Given the description of an element on the screen output the (x, y) to click on. 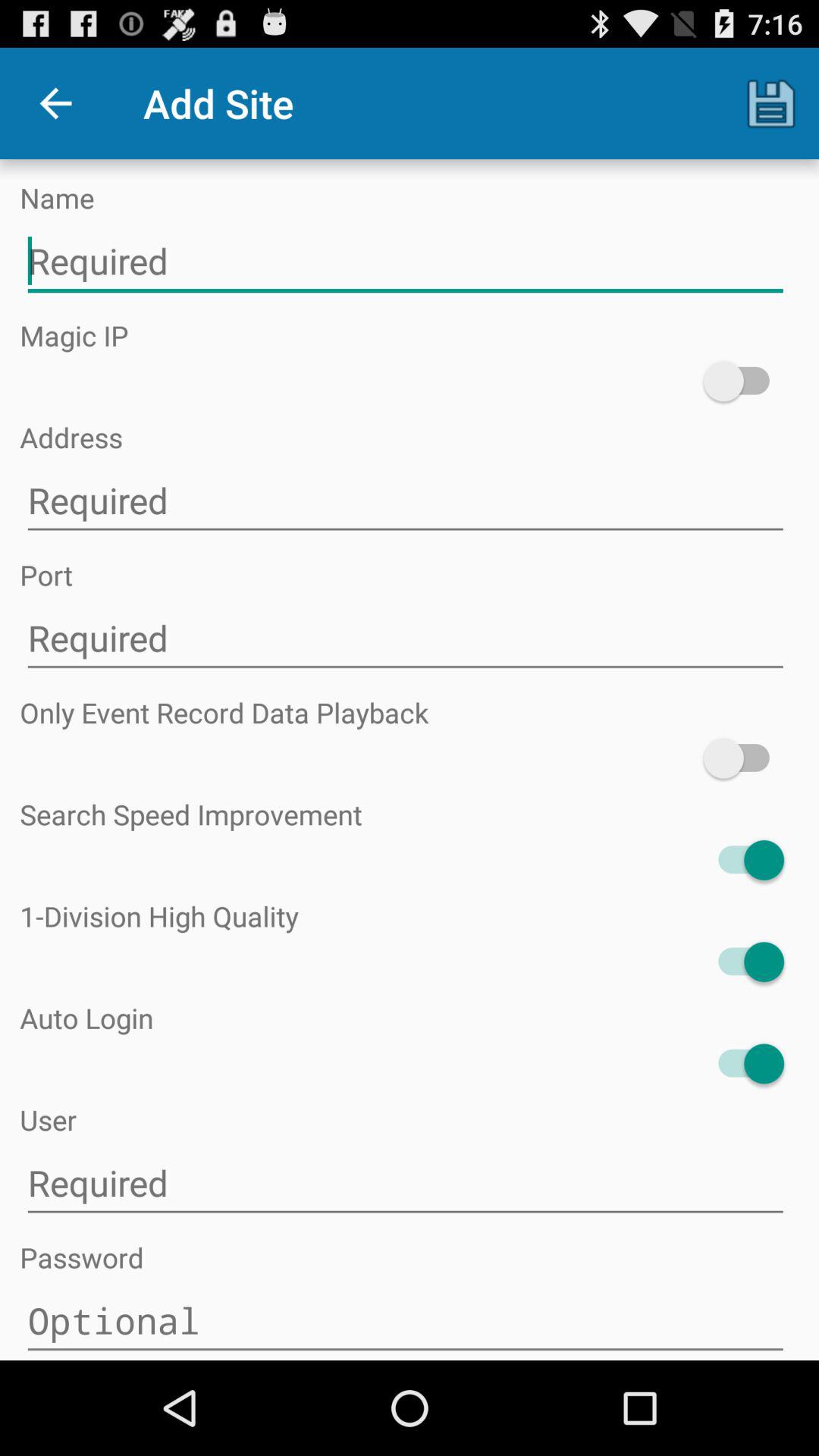
type in ip address (405, 501)
